Given the description of an element on the screen output the (x, y) to click on. 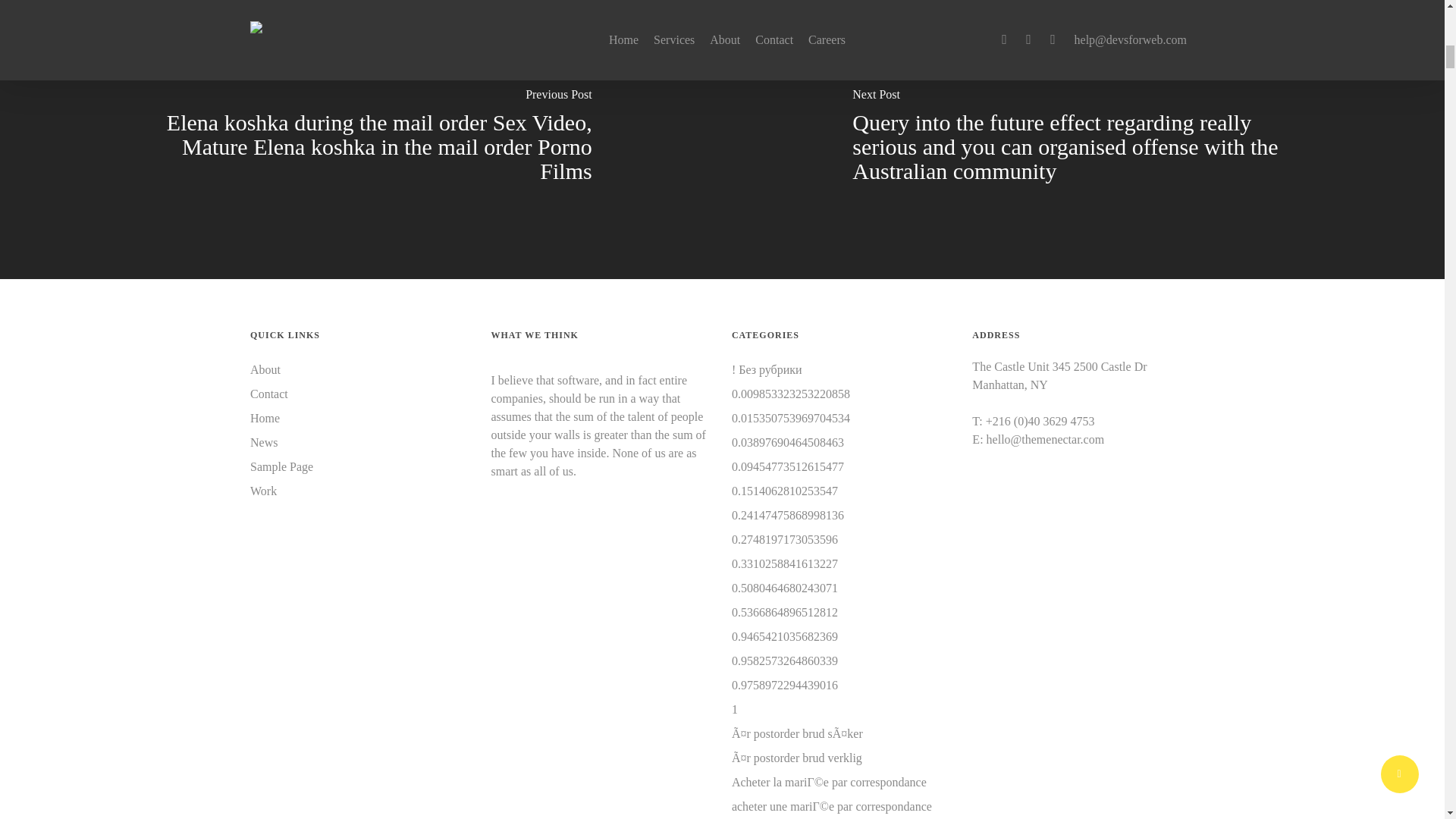
News (360, 443)
0.24147475868998136 (788, 515)
0.1514062810253547 (785, 491)
0.2748197173053596 (785, 539)
0.009853323253220858 (791, 393)
0.09454773512615477 (788, 466)
Work (360, 491)
About (360, 370)
Home (360, 418)
Contact (360, 393)
0.03897690464508463 (788, 443)
Sample Page (360, 466)
0.015350753969704534 (791, 418)
